Given the description of an element on the screen output the (x, y) to click on. 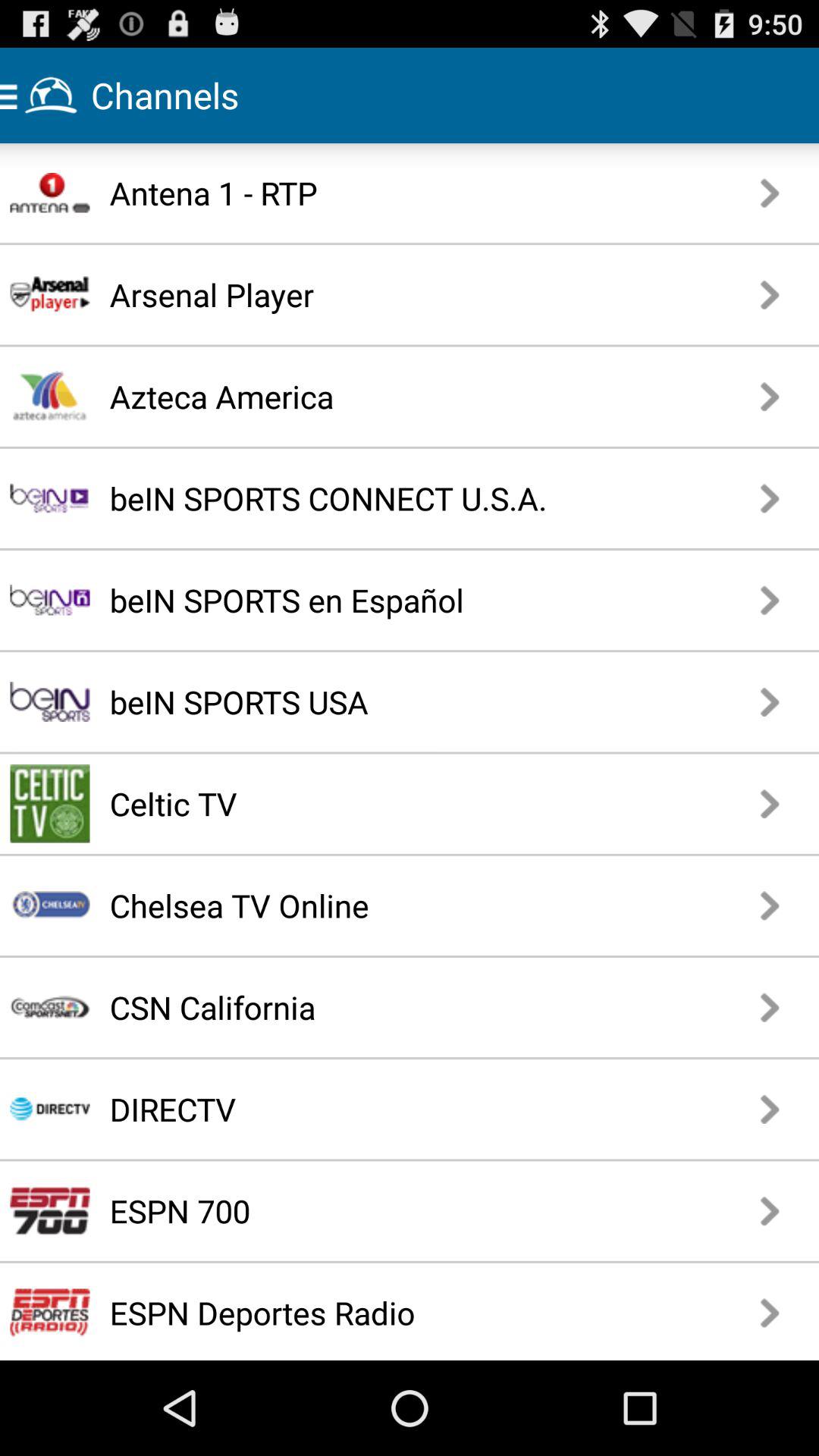
turn off the espn deportes radio icon (382, 1312)
